Given the description of an element on the screen output the (x, y) to click on. 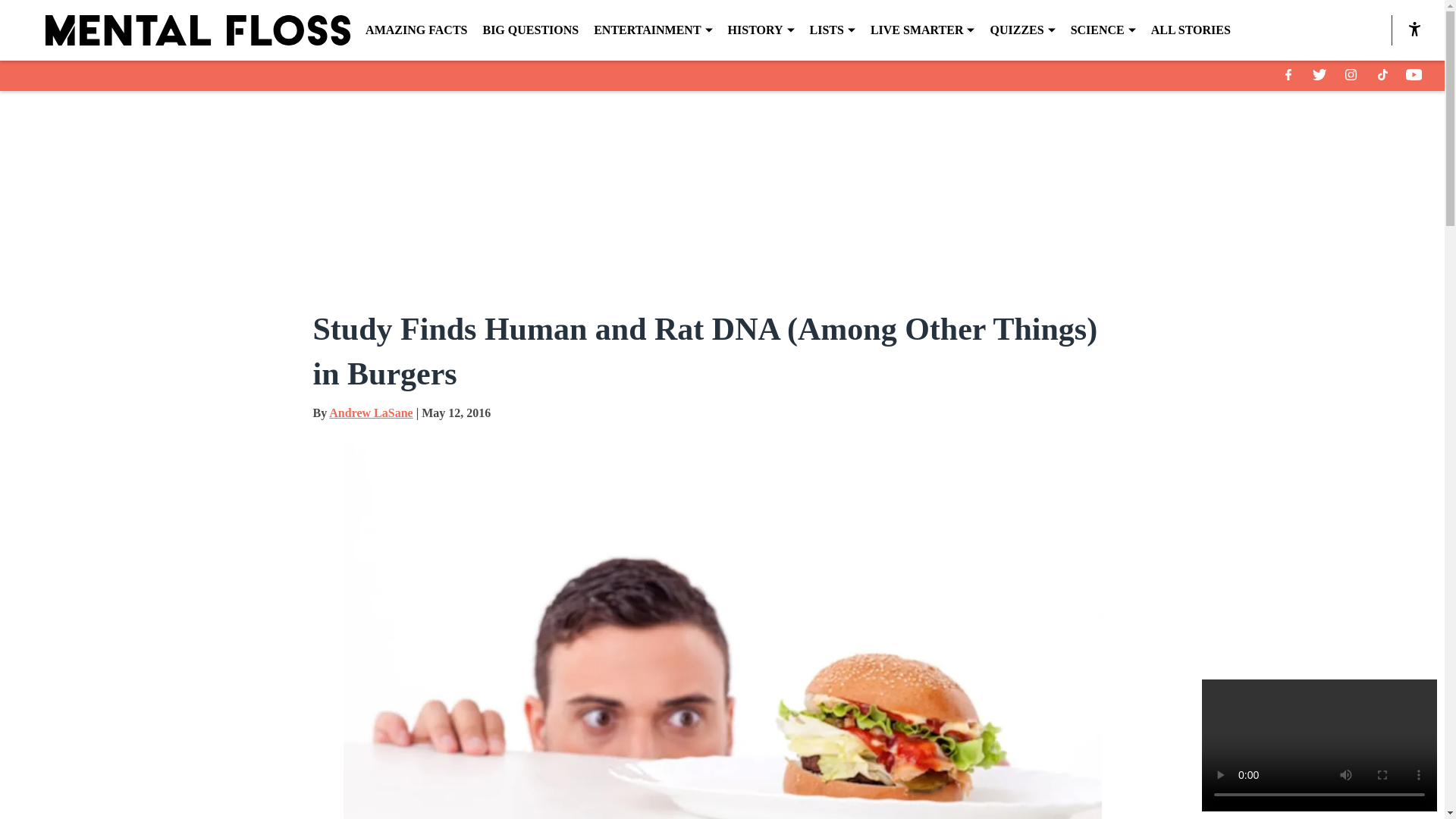
BIG QUESTIONS (529, 30)
ALL STORIES (1190, 30)
AMAZING FACTS (416, 30)
